Given the description of an element on the screen output the (x, y) to click on. 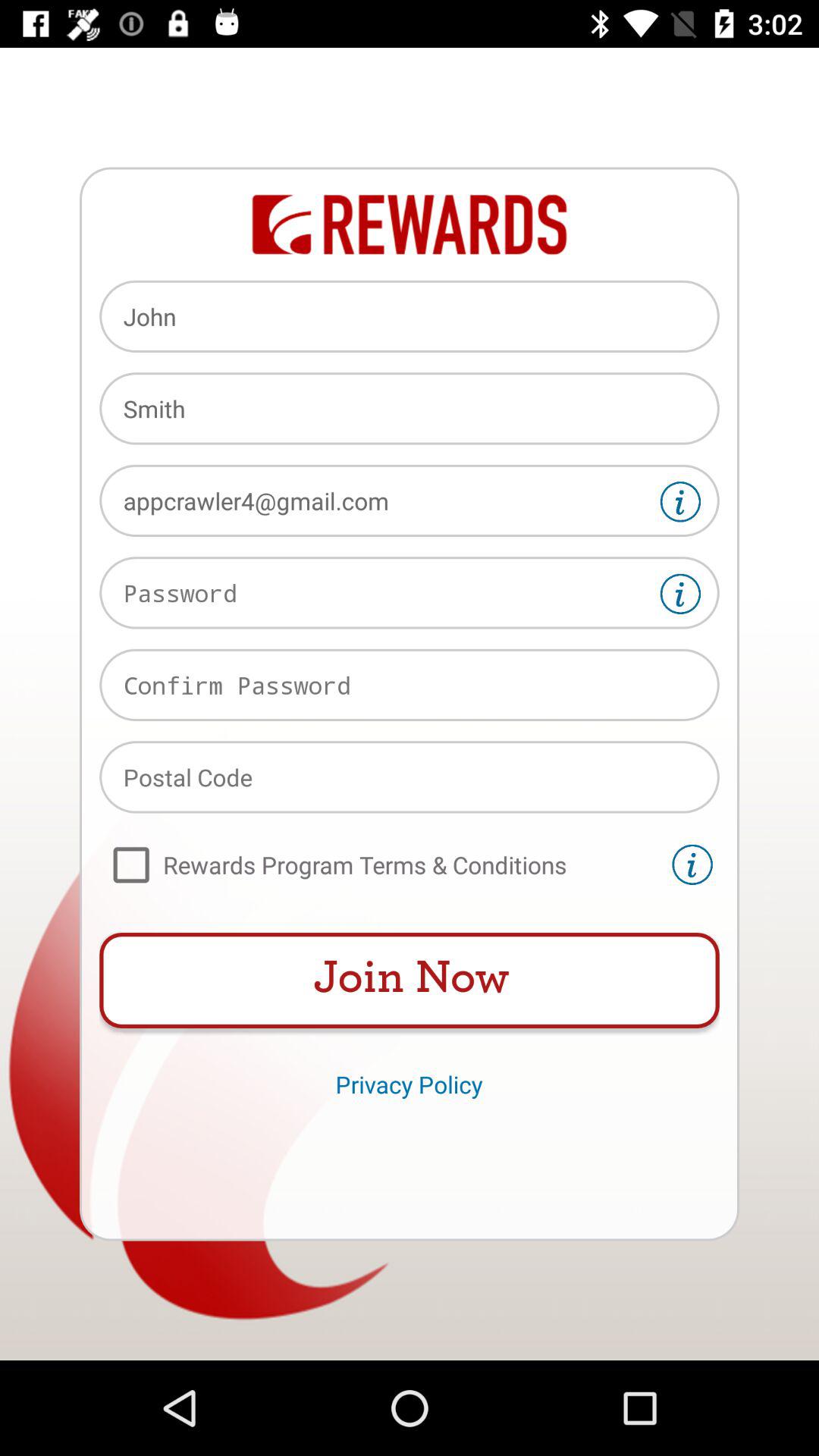
reenter password (409, 684)
